Given the description of an element on the screen output the (x, y) to click on. 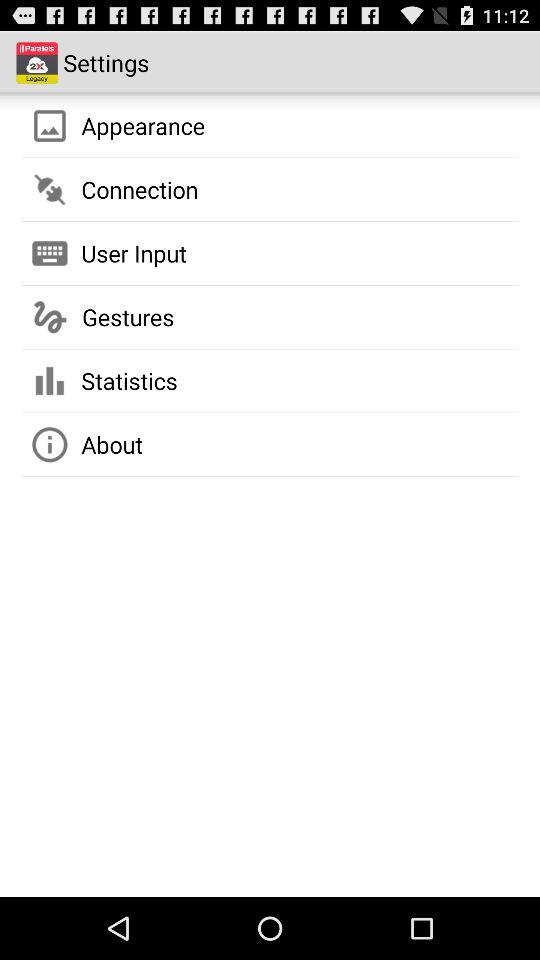
launch the statistics item (129, 380)
